Given the description of an element on the screen output the (x, y) to click on. 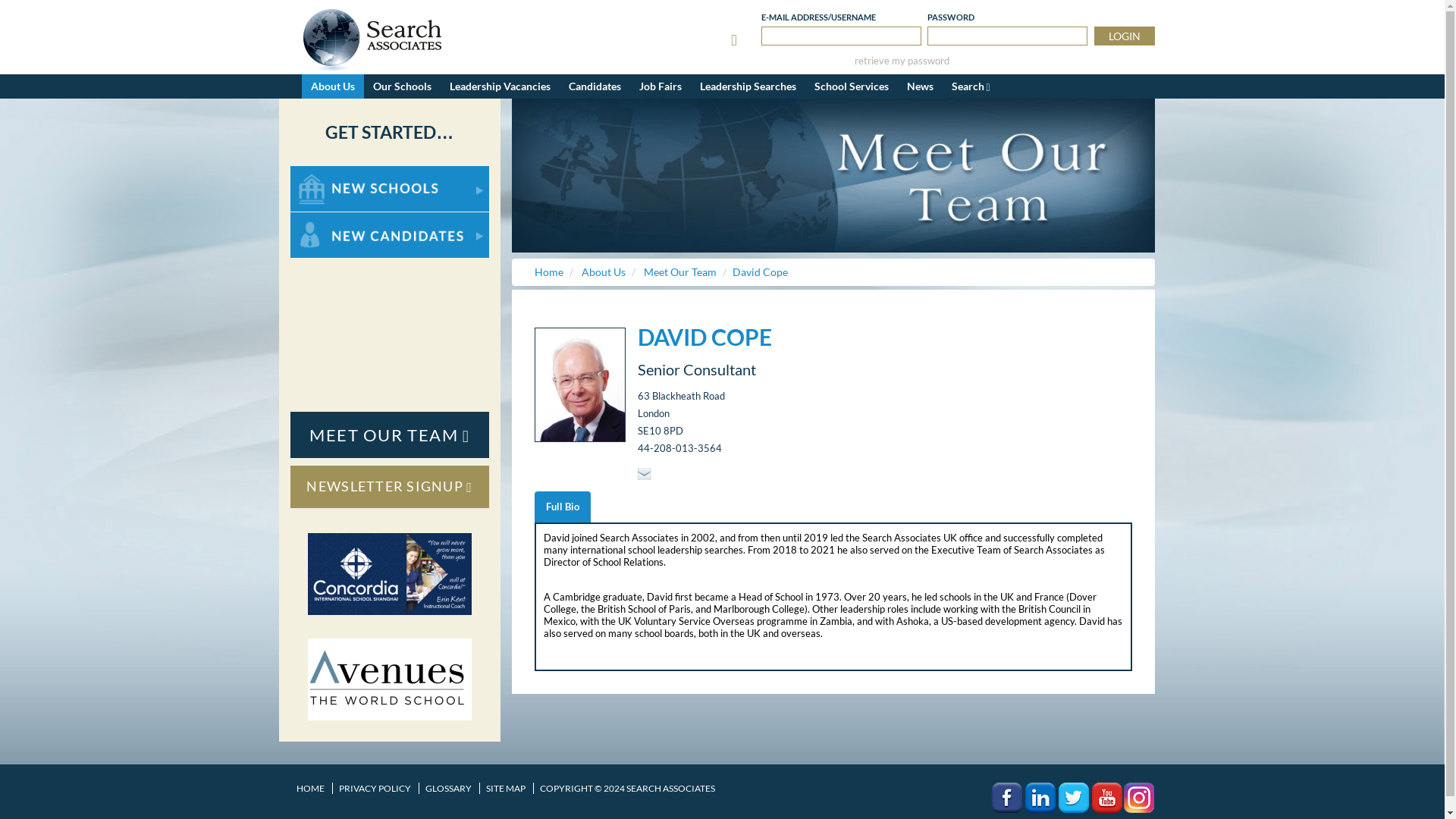
Leadership Vacancies (499, 86)
Leadership Searches (747, 86)
Candidates (594, 86)
School Services (851, 86)
LOGIN (1124, 35)
Our Schools (402, 86)
retrieve my password (901, 60)
Job Fairs (659, 86)
About Us (332, 86)
LOGIN (1124, 35)
